Given the description of an element on the screen output the (x, y) to click on. 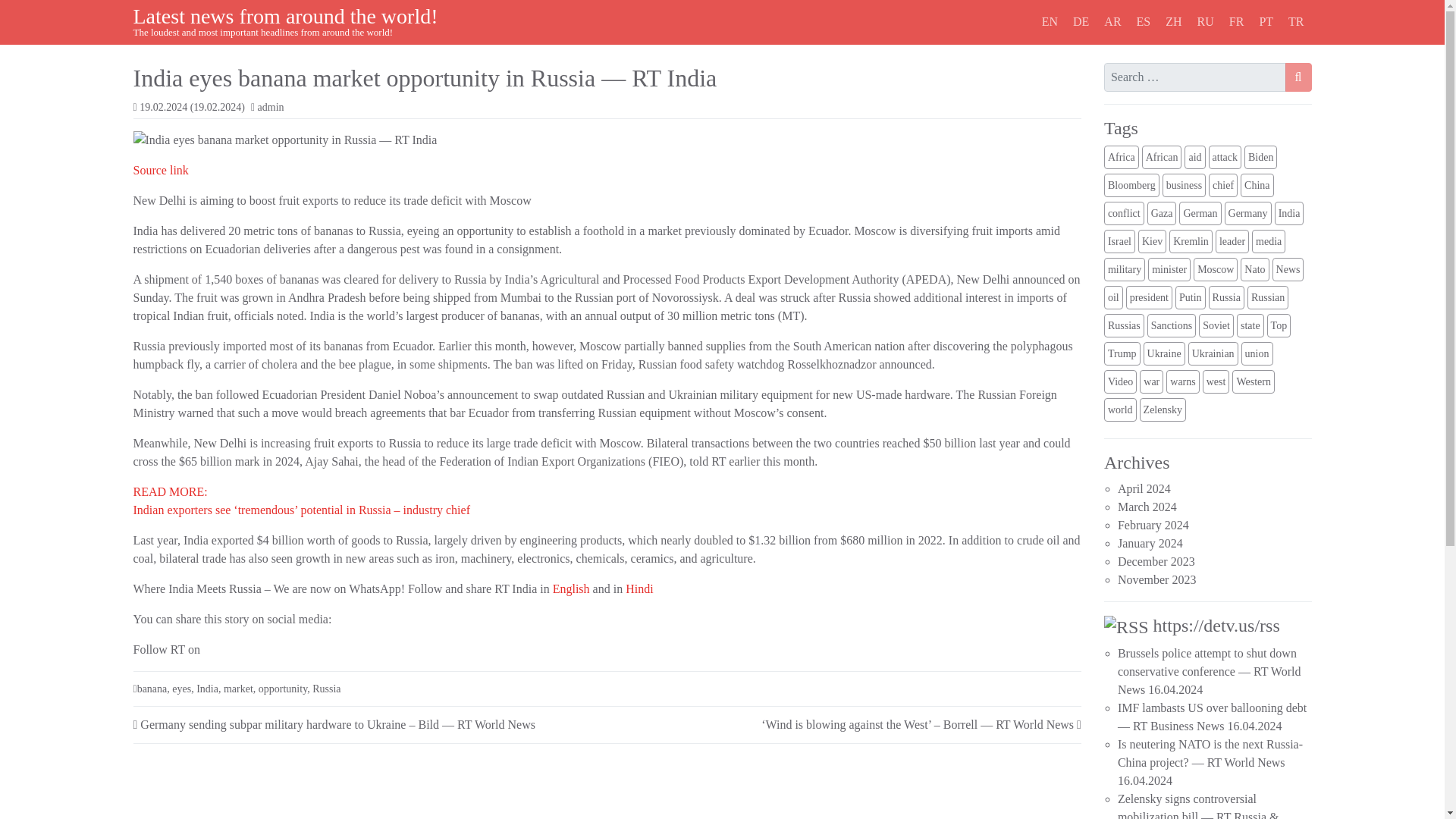
EN (1049, 22)
Hindi (639, 588)
TR (1296, 22)
FR (1236, 22)
FR (1236, 22)
banana (151, 688)
ES (1143, 22)
Latest news from around the world! (285, 15)
TR (1296, 22)
AR (1112, 22)
